Given the description of an element on the screen output the (x, y) to click on. 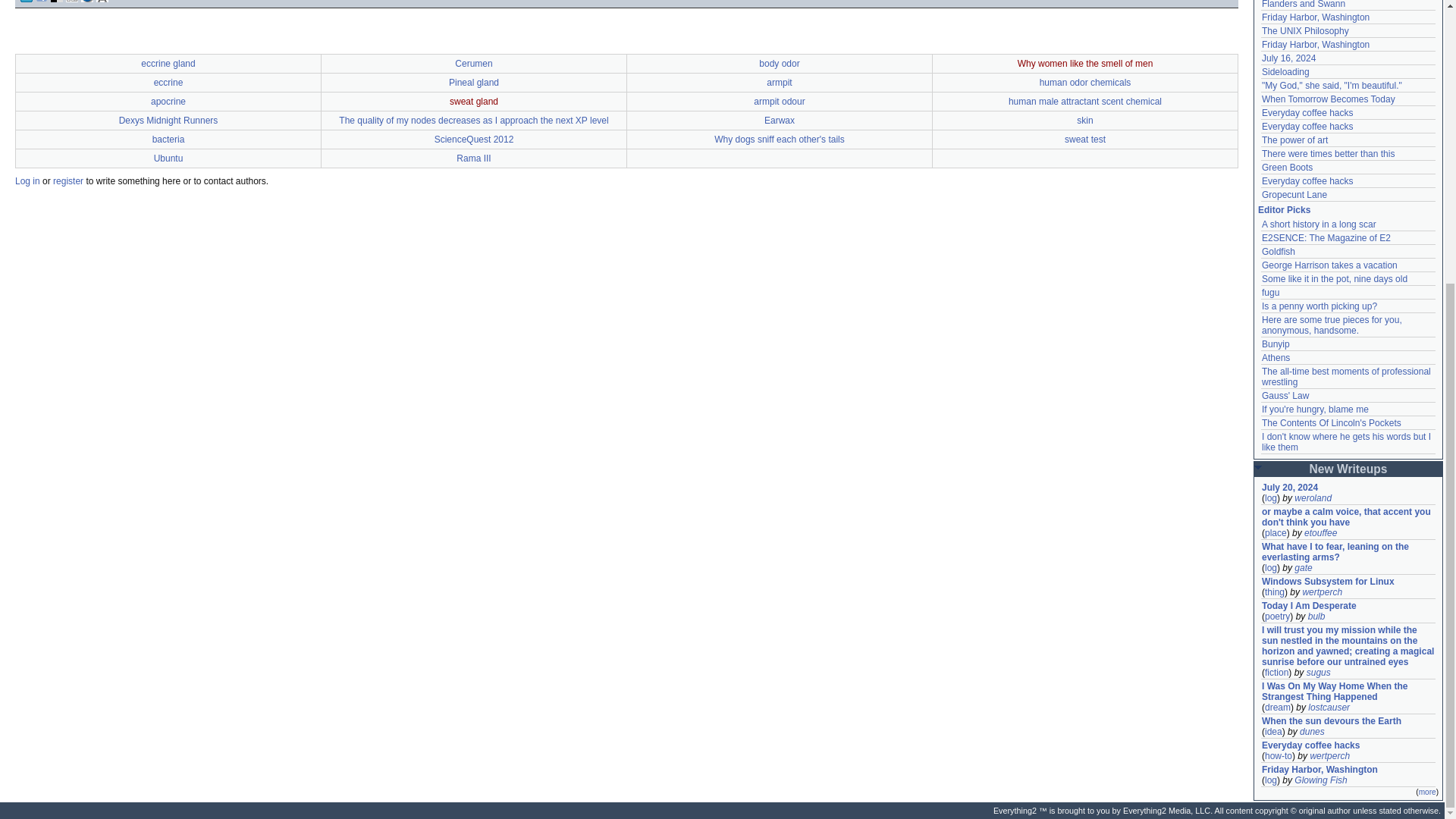
I like it! (626, 0)
